Given the description of an element on the screen output the (x, y) to click on. 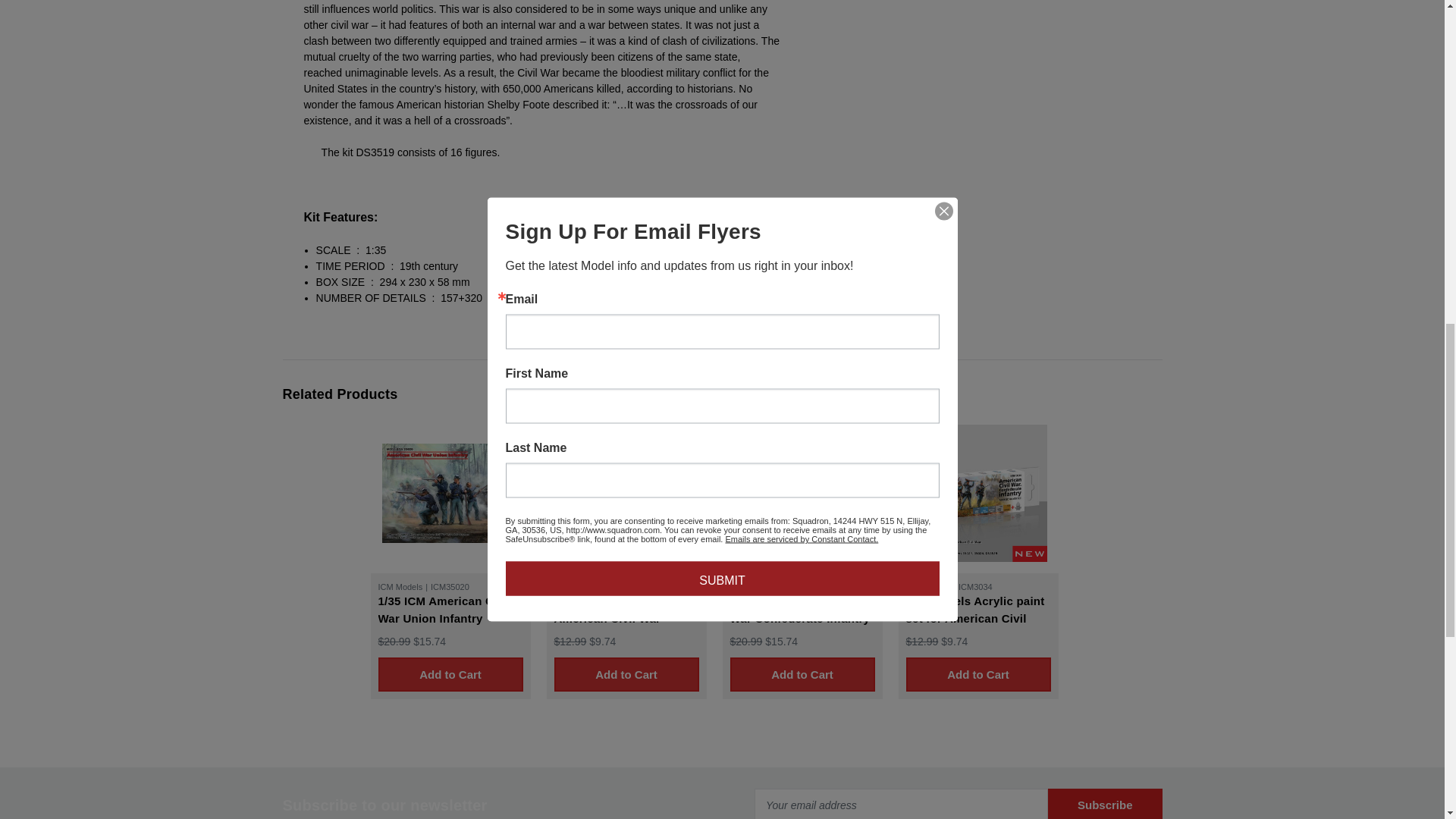
Subscribe (1104, 803)
